Given the description of an element on the screen output the (x, y) to click on. 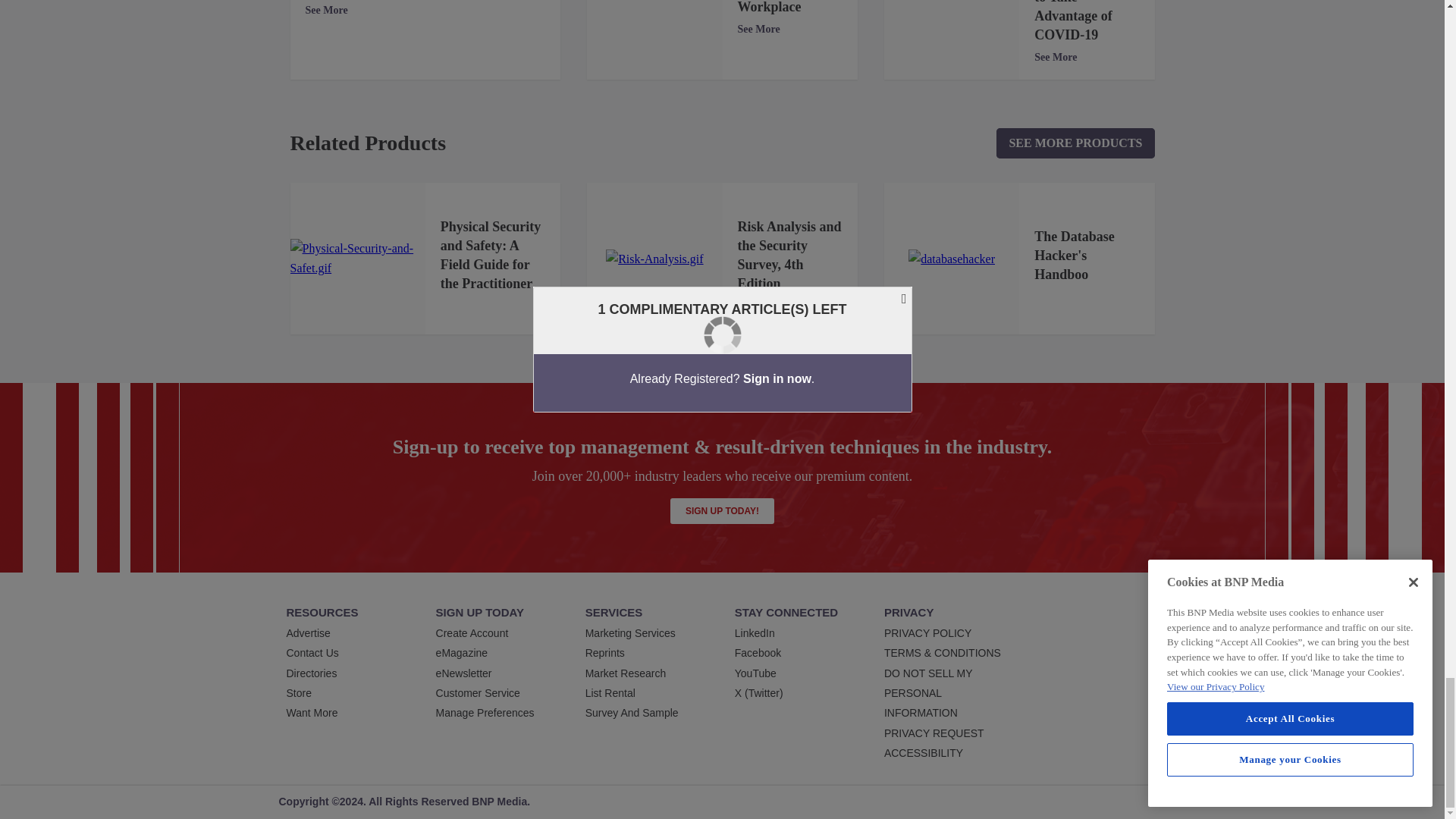
Physical-Security-and-Safet.gif (357, 259)
